Given the description of an element on the screen output the (x, y) to click on. 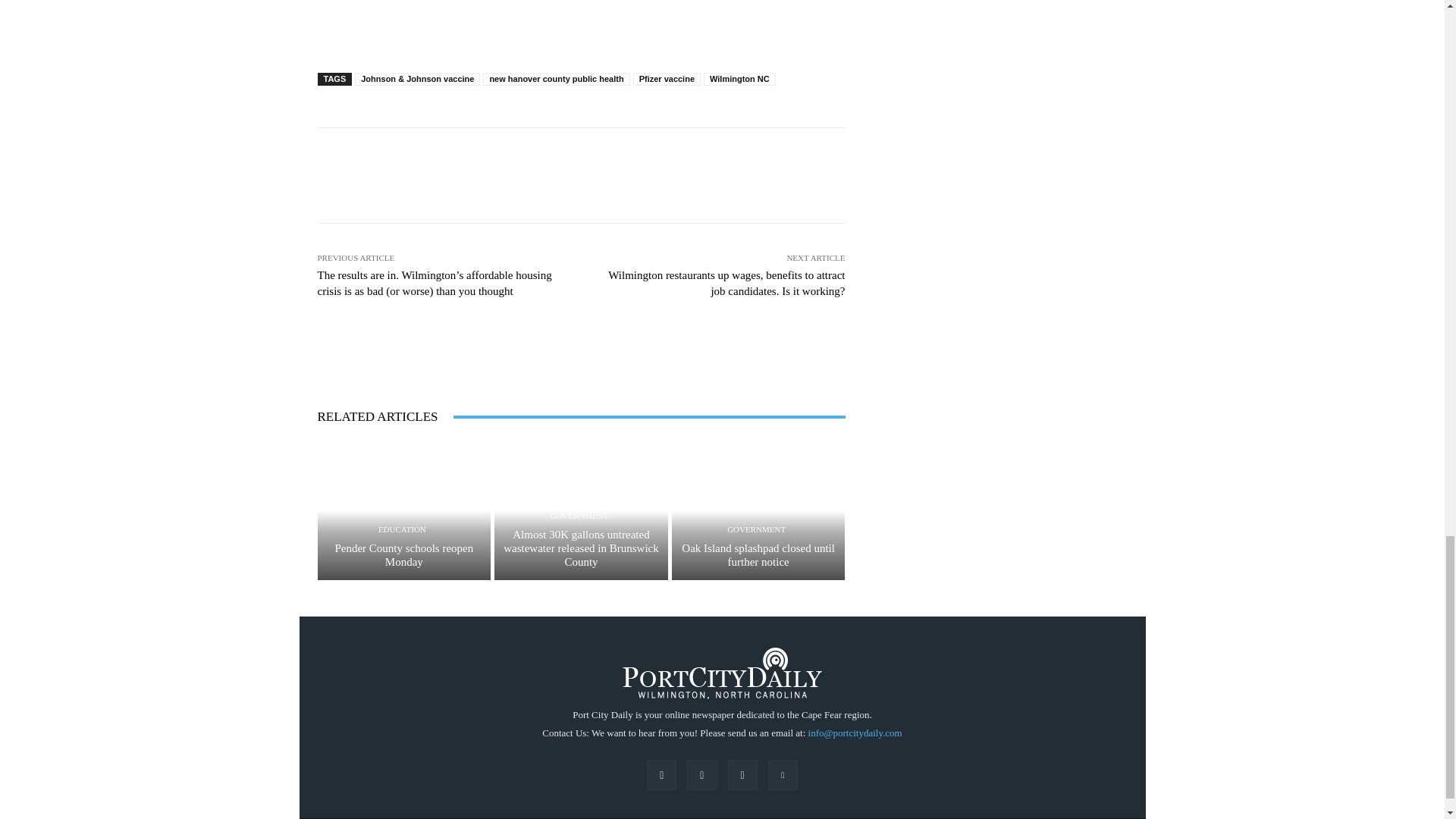
Pender County schools reopen Monday (403, 555)
Pender County schools reopen Monday (403, 510)
